Given the description of an element on the screen output the (x, y) to click on. 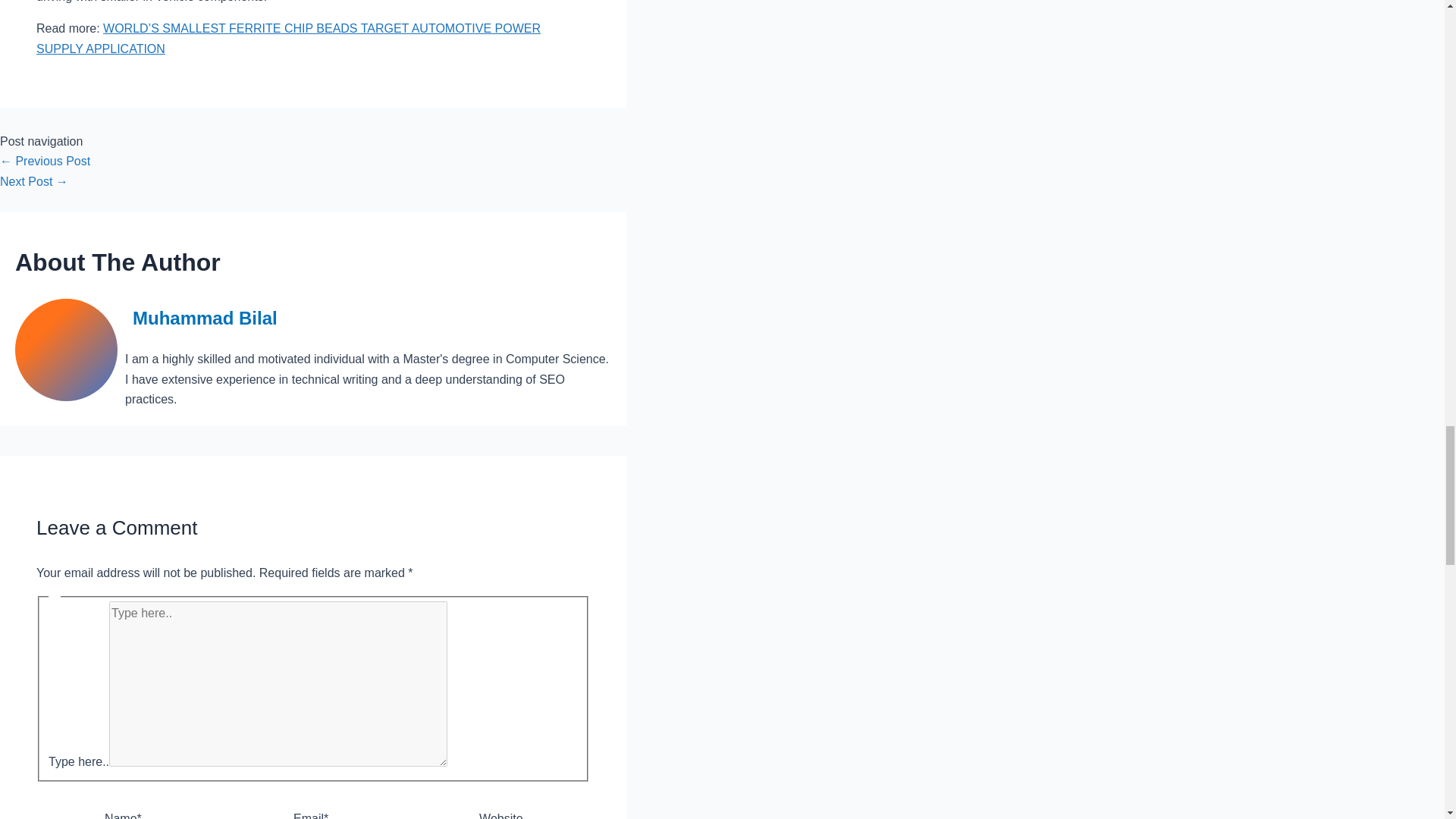
Rotary Encoder Interfacing with ATmega8 Microcontroller (34, 181)
